Given the description of an element on the screen output the (x, y) to click on. 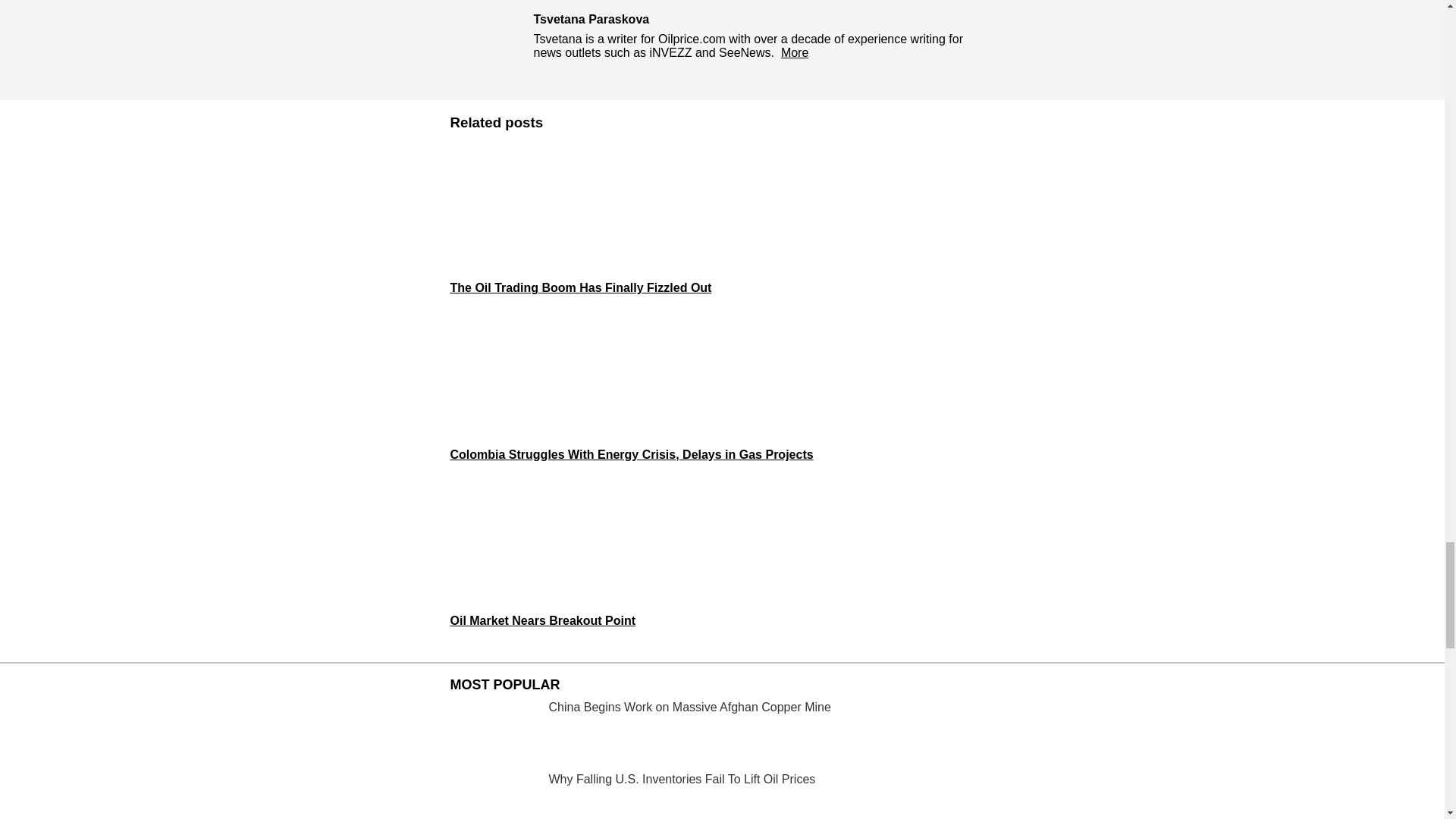
The Oil Trading Boom Has Finally Fizzled Out (721, 219)
China Begins Work on Massive Afghan Copper Mine (721, 732)
Why Falling U.S. Inventories Fail To Lift Oil Prices (721, 796)
More (794, 51)
Oil Market Nears Breakout Point (721, 552)
